Given the description of an element on the screen output the (x, y) to click on. 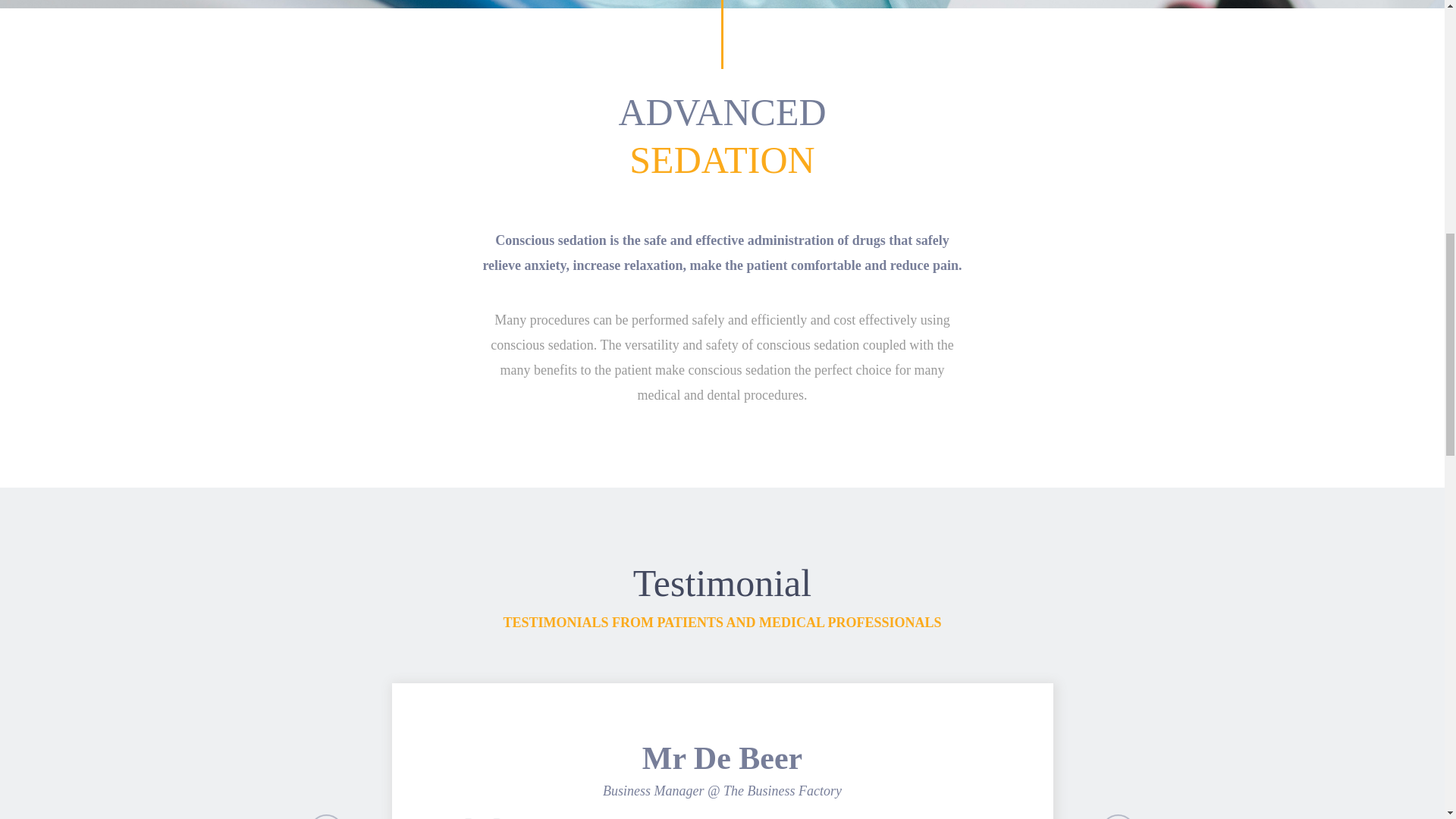
Next (1117, 760)
Previous (326, 760)
